Given the description of an element on the screen output the (x, y) to click on. 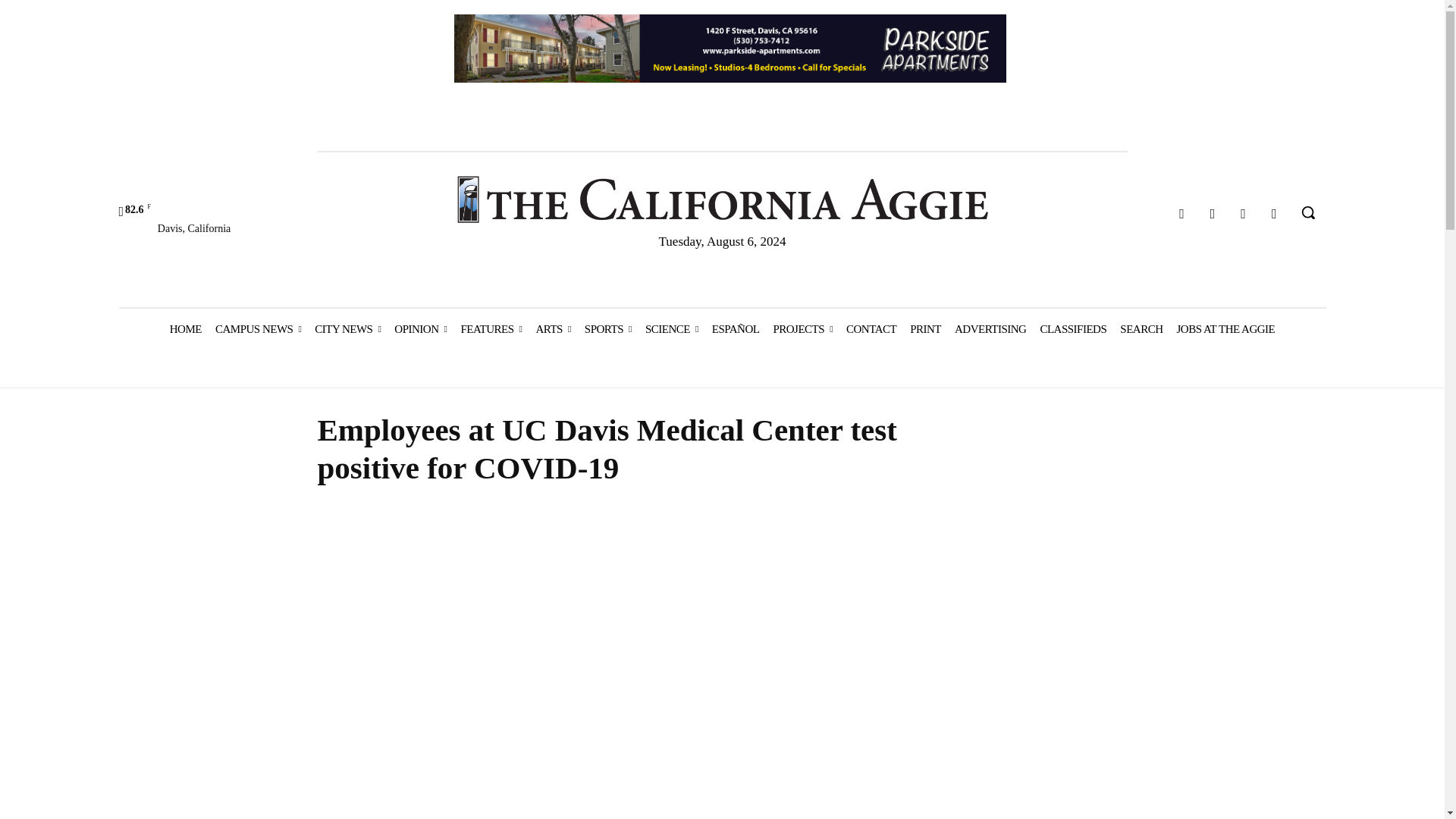
Instagram (1212, 214)
Youtube (1273, 214)
Twitter (1243, 214)
CAMPUS NEWS (257, 329)
Facebook (1181, 214)
HOME (185, 329)
